Given the description of an element on the screen output the (x, y) to click on. 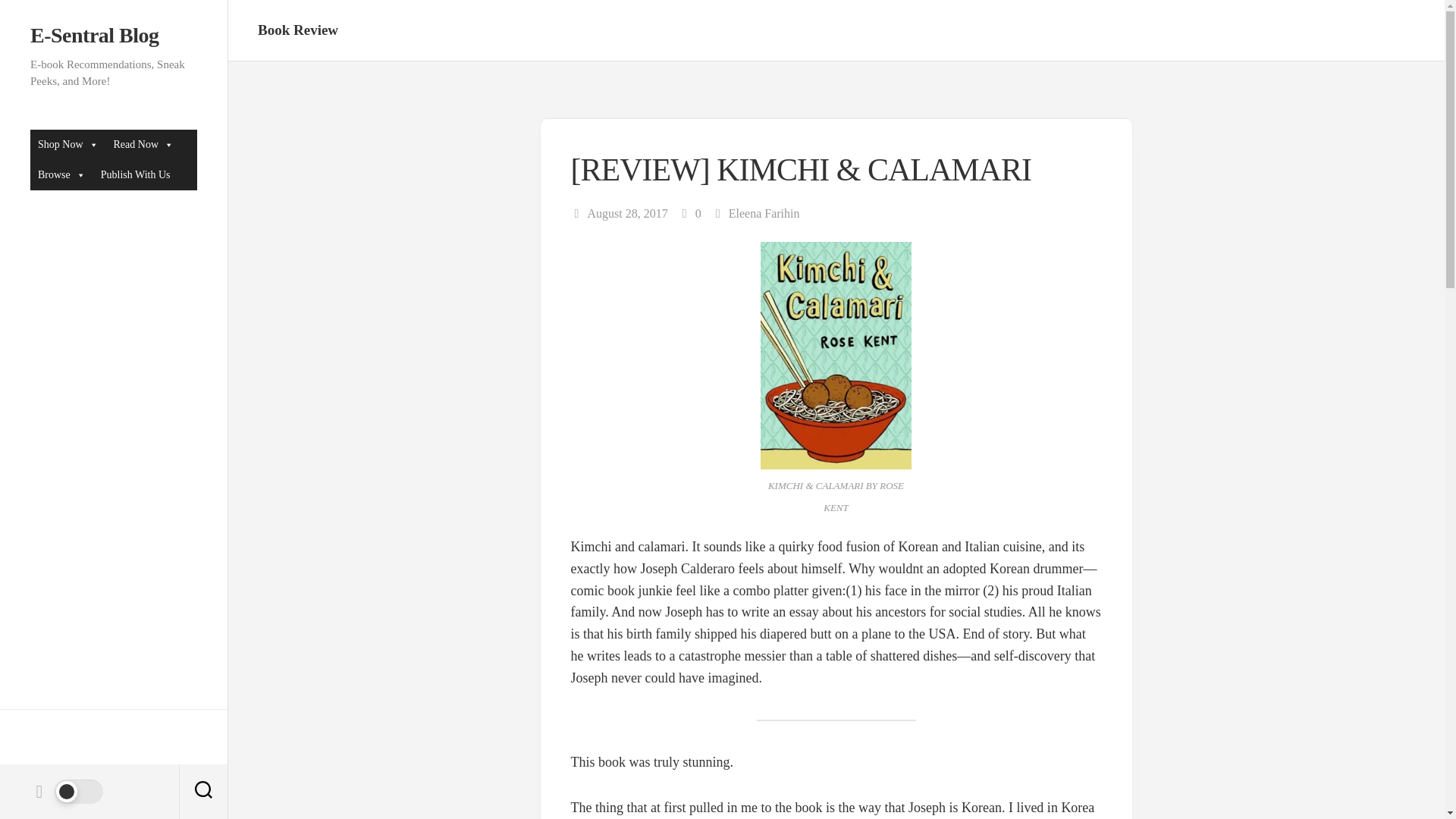
Publish With Us (135, 174)
E-Sentral Blog (113, 35)
Shop Now (68, 144)
Posts by Eleena Farihin (764, 213)
Browse (61, 174)
Read Now (144, 144)
